Given the description of an element on the screen output the (x, y) to click on. 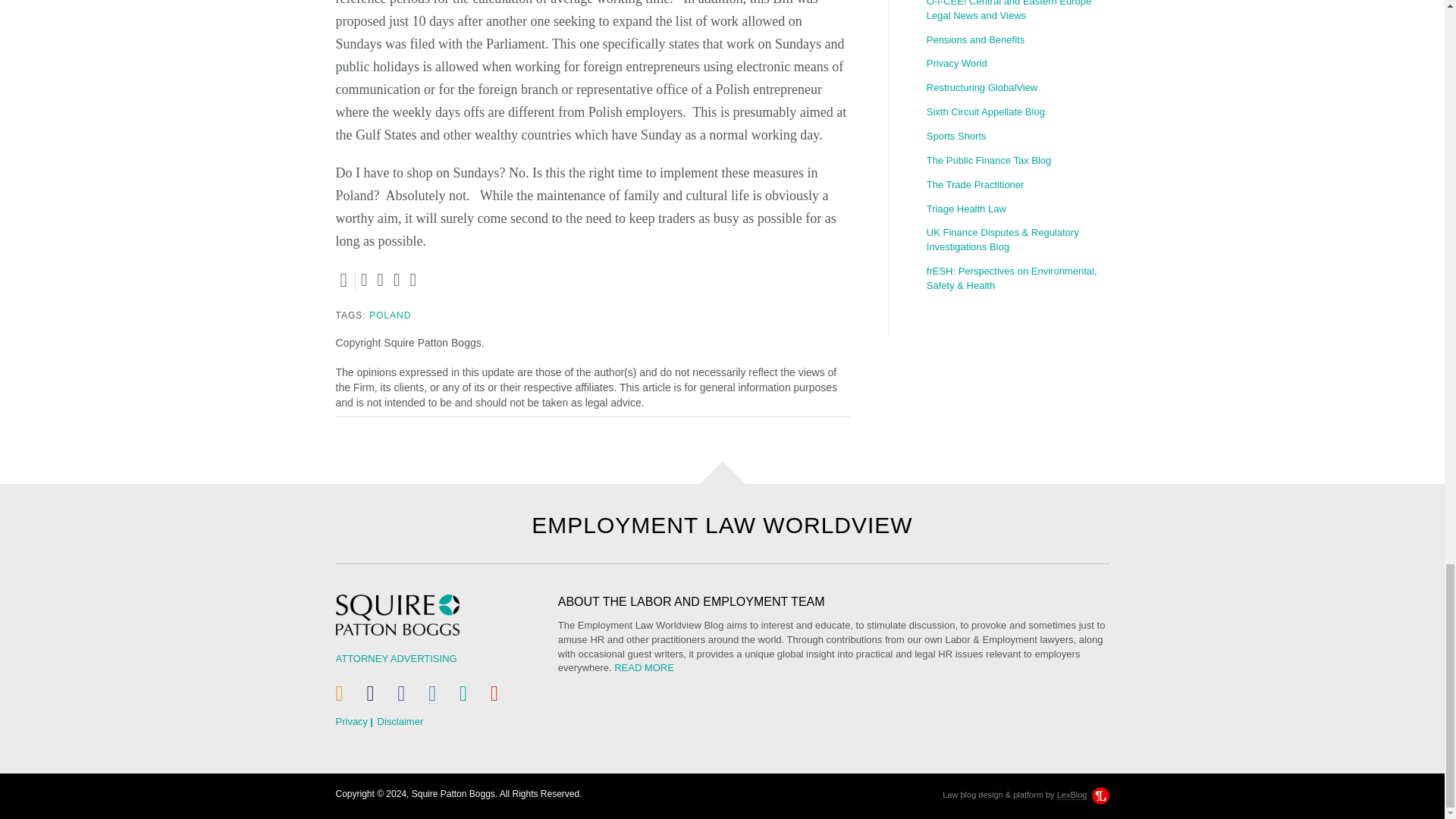
POLAND (389, 315)
